Given the description of an element on the screen output the (x, y) to click on. 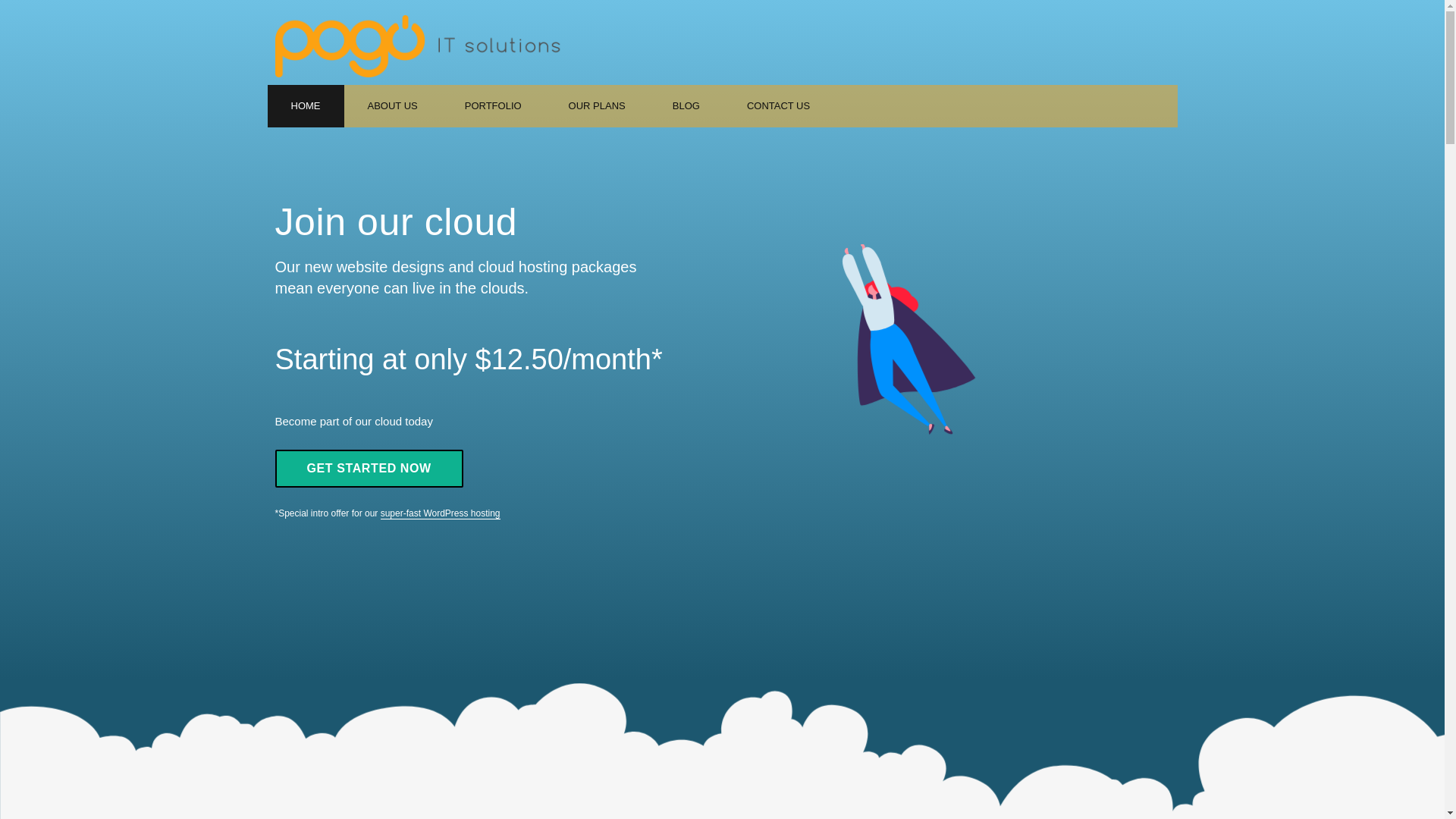
CONTACT US Element type: text (778, 105)
OUR PLANS Element type: text (597, 105)
BLOG Element type: text (686, 105)
PORTFOLIO Element type: text (493, 105)
ABOUT US Element type: text (392, 105)
GET STARTED NOW Element type: text (368, 468)
HOME Element type: text (304, 105)
